Given the description of an element on the screen output the (x, y) to click on. 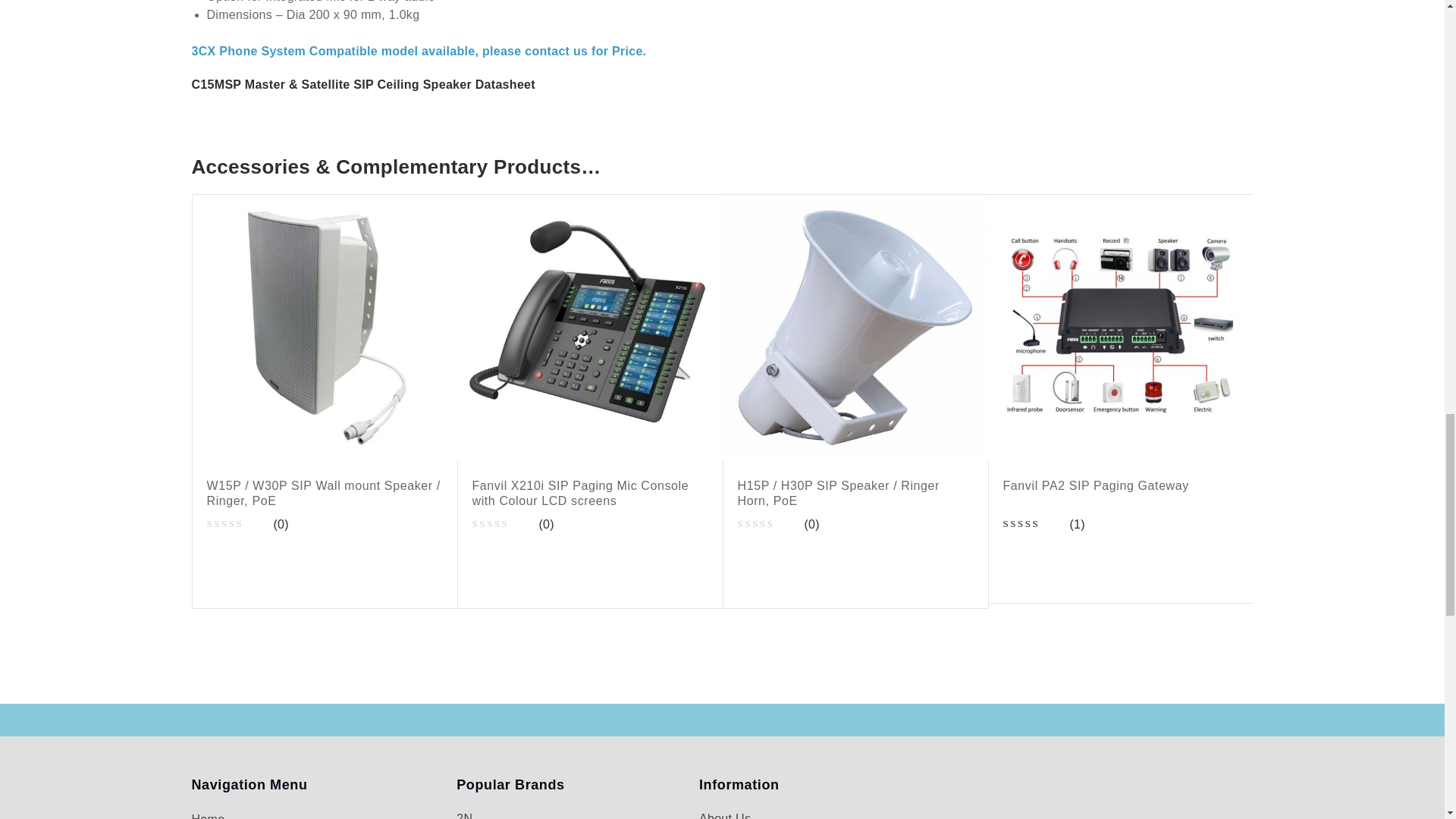
Not yet rated (767, 524)
Not yet rated (502, 524)
Rated 5.00 out of 5 (1034, 524)
Not yet rated (237, 524)
